Given the description of an element on the screen output the (x, y) to click on. 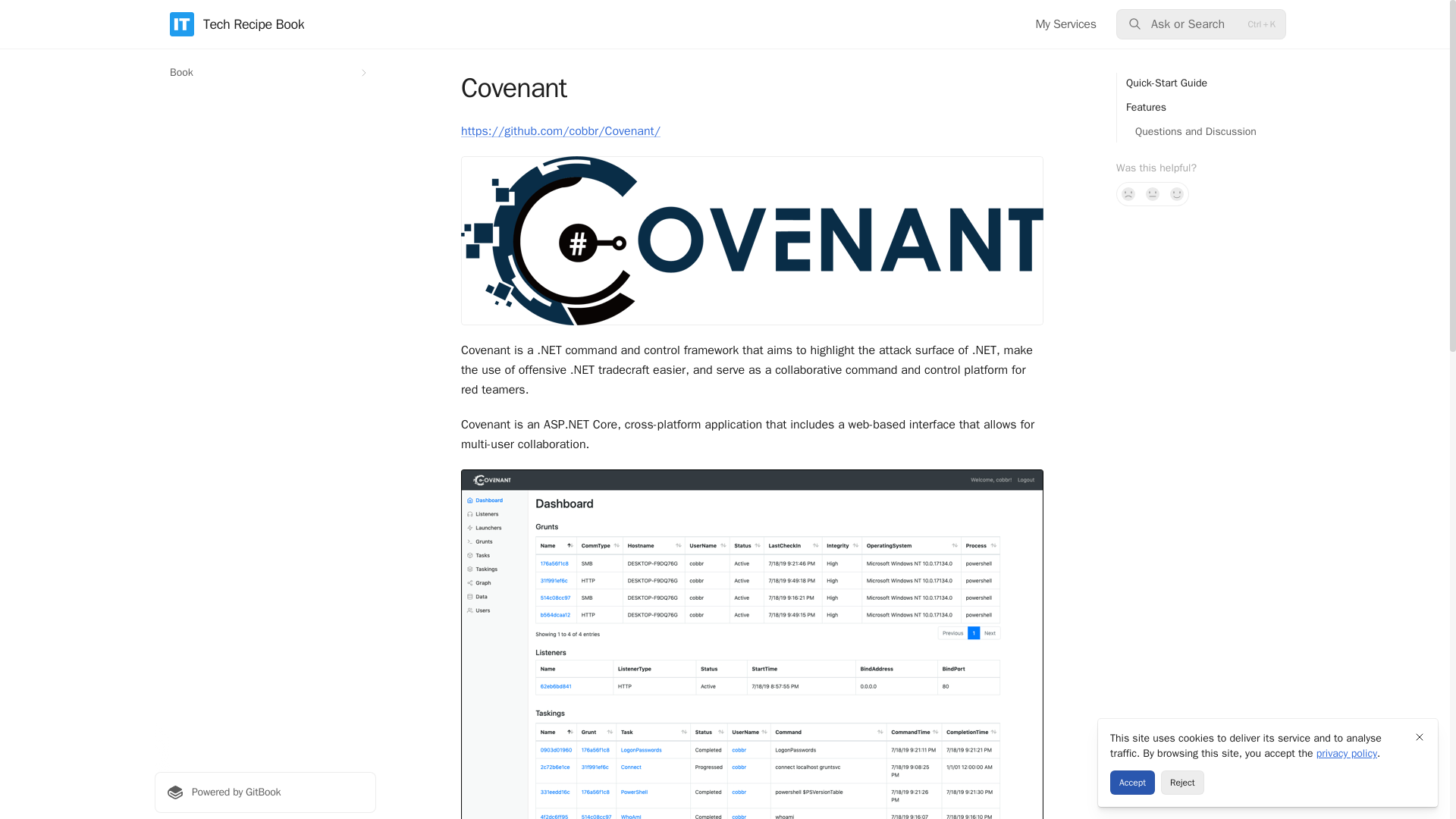
Not sure (1152, 193)
Yes, it was! (1176, 193)
Book (264, 72)
My Services (1065, 24)
Close (1419, 737)
Tech Recipe Book (237, 24)
No (1128, 193)
